Given the description of an element on the screen output the (x, y) to click on. 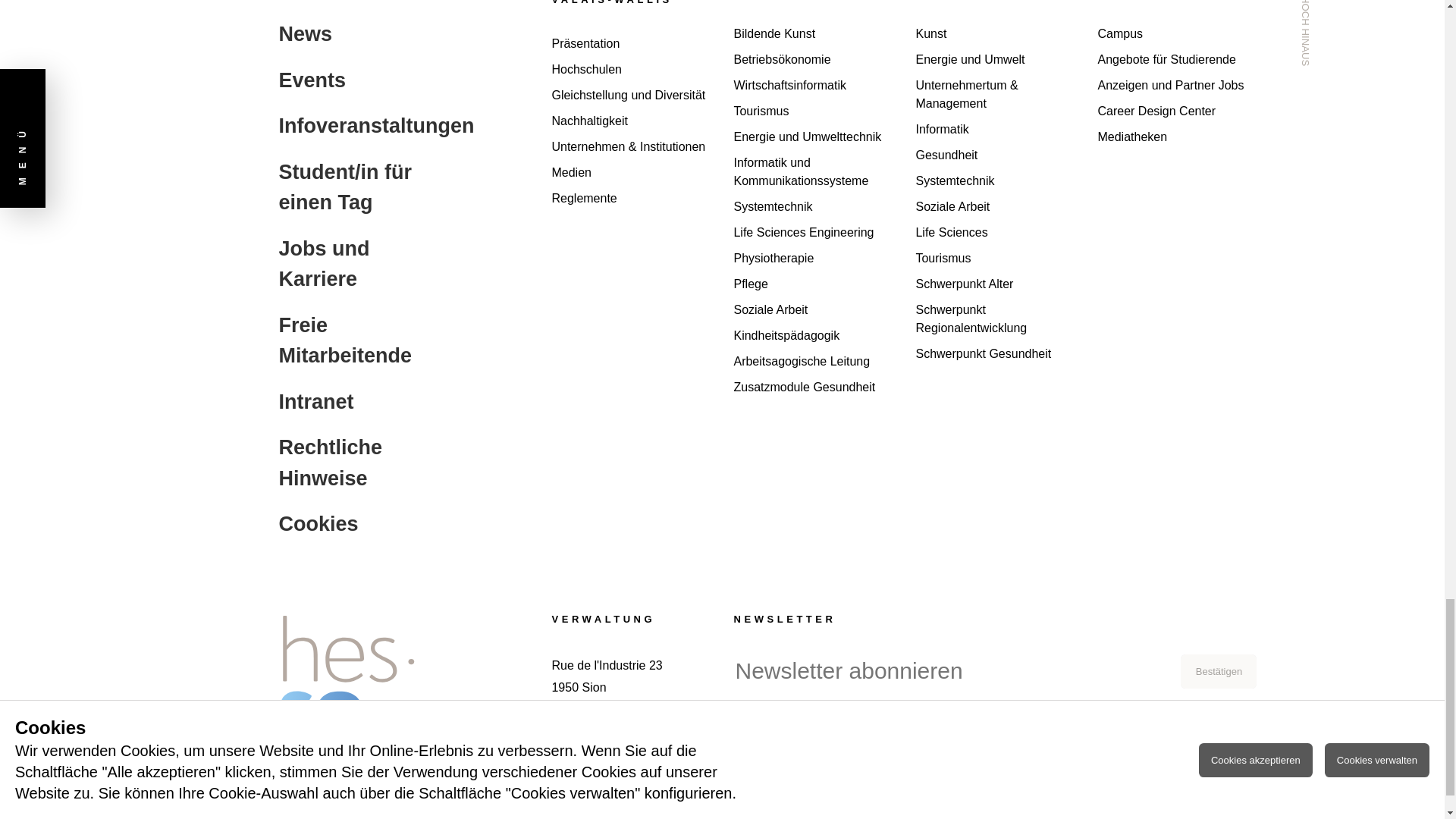
News (358, 33)
Hochschulen (630, 69)
Tourismus (812, 111)
Nachhaltigkeit (630, 121)
Medien (630, 172)
Energie und Umwelttechnik (812, 136)
Cookies (358, 523)
Freie Mitarbeitende (358, 340)
Jobs und Karriere (630, 2)
